Given the description of an element on the screen output the (x, y) to click on. 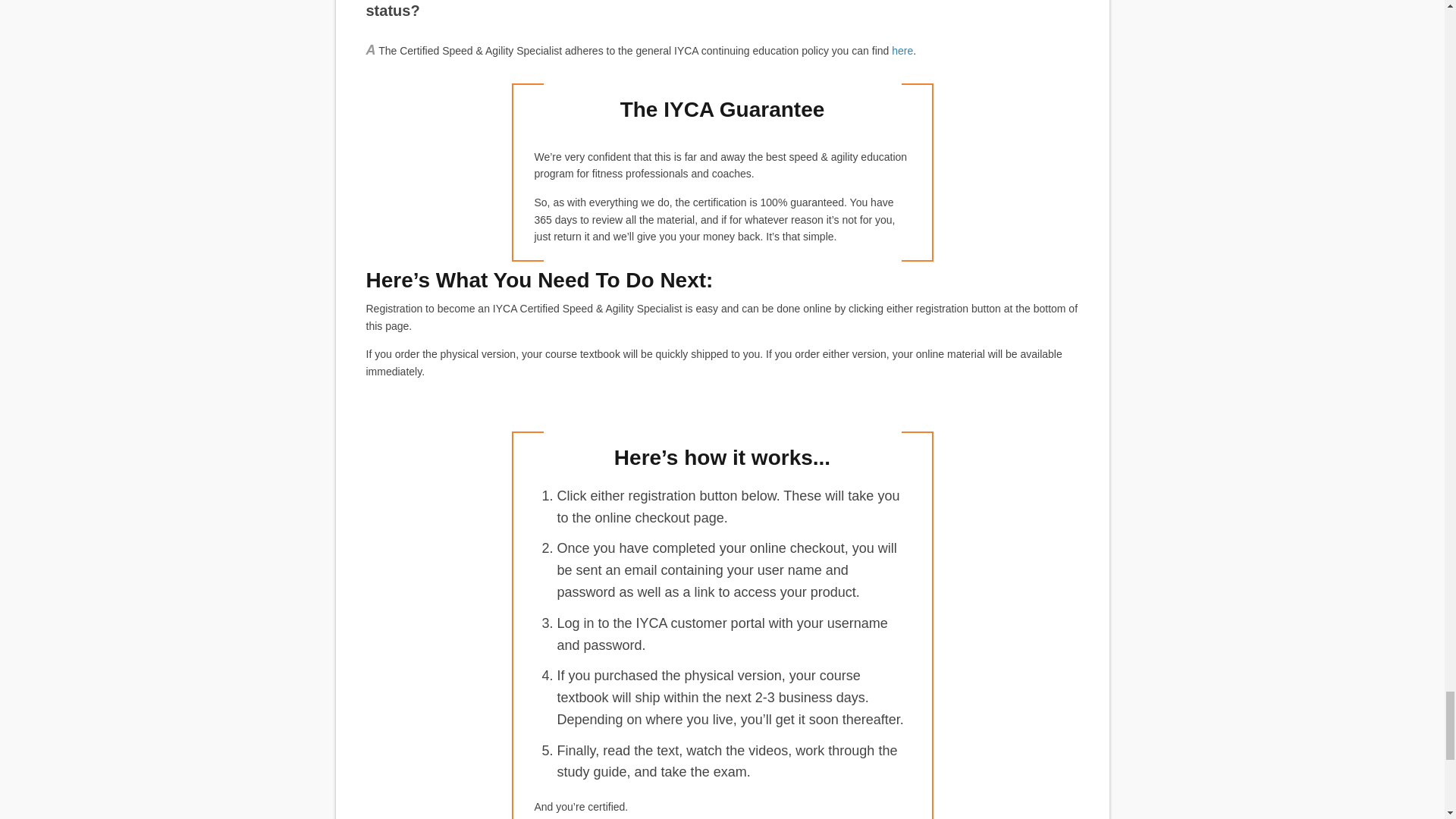
here (901, 50)
